Given the description of an element on the screen output the (x, y) to click on. 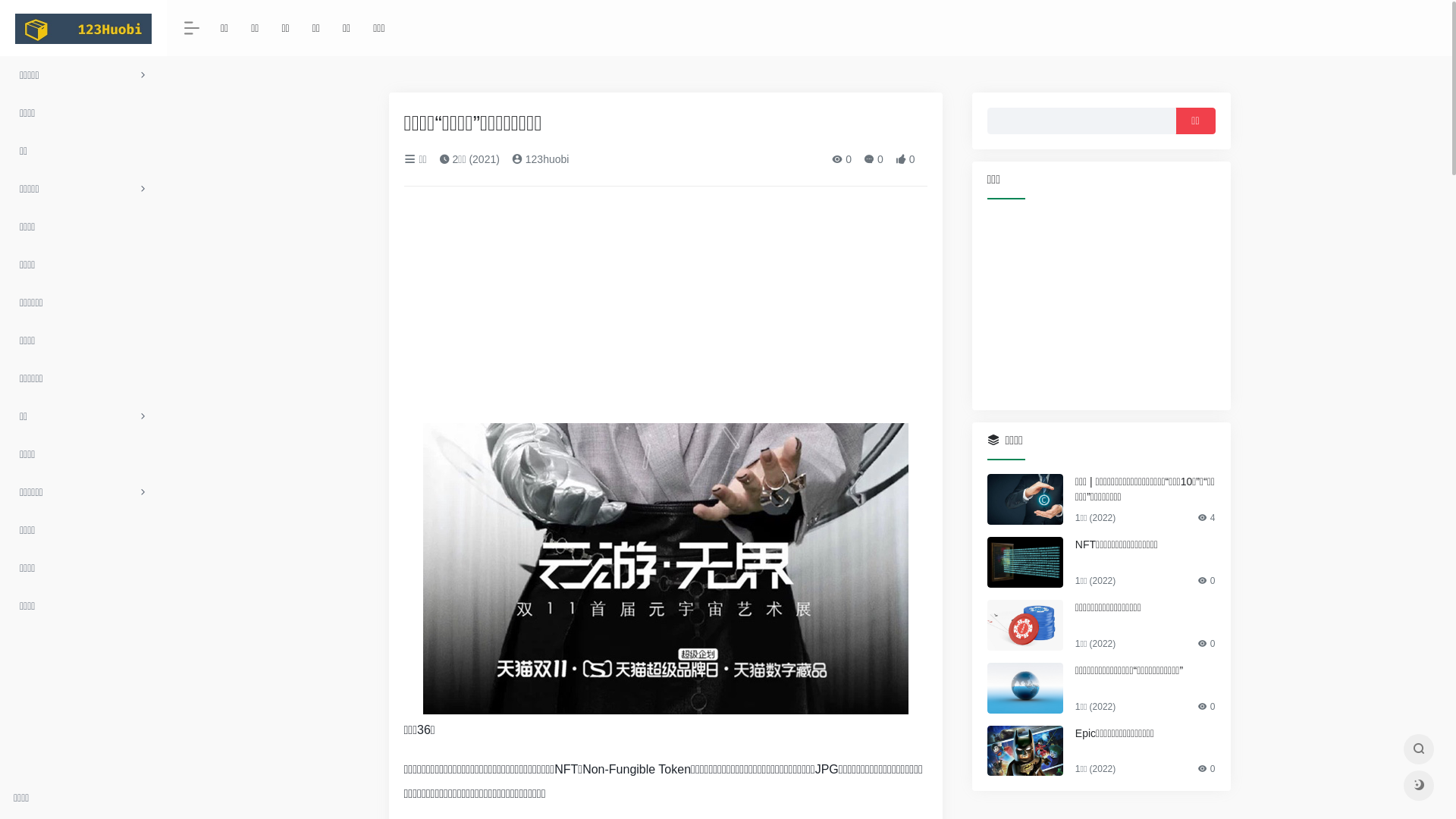
0 Element type: text (905, 159)
Advertisement Element type: hover (664, 310)
Advertisement Element type: hover (1101, 303)
0 Element type: text (873, 159)
123huobi Element type: text (540, 159)
